Given the description of an element on the screen output the (x, y) to click on. 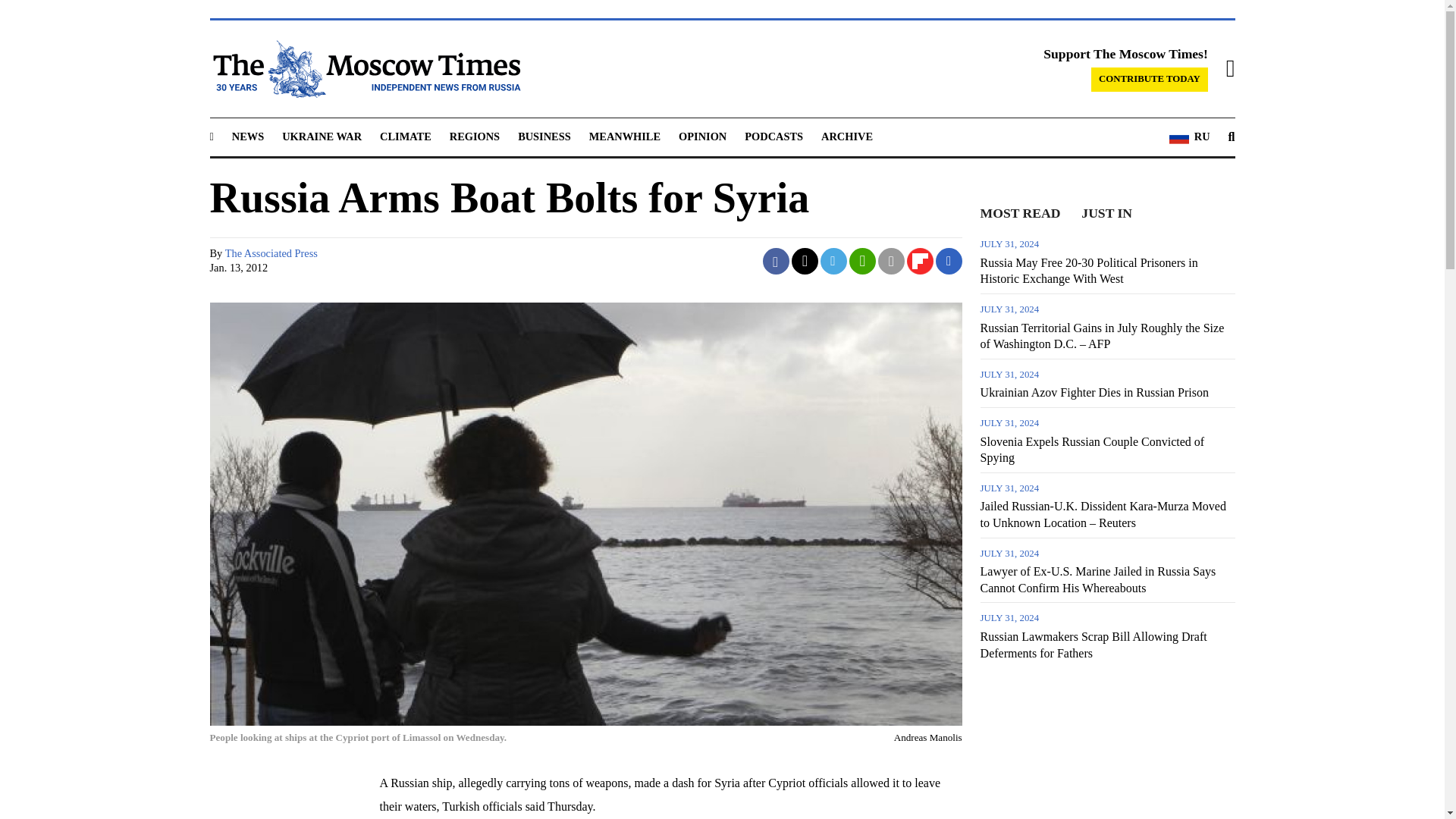
ARCHIVE (846, 136)
Share on Telegram (834, 261)
NEWS (247, 136)
CONTRIBUTE TODAY (1149, 79)
UKRAINE WAR (321, 136)
CLIMATE (405, 136)
The Moscow Times - Independent News from Russia (364, 68)
RU (1189, 137)
PODCASTS (773, 136)
OPINION (702, 136)
BUSINESS (544, 136)
MEANWHILE (625, 136)
Share on Facebook (775, 261)
Share on Flipboard (920, 261)
